Given the description of an element on the screen output the (x, y) to click on. 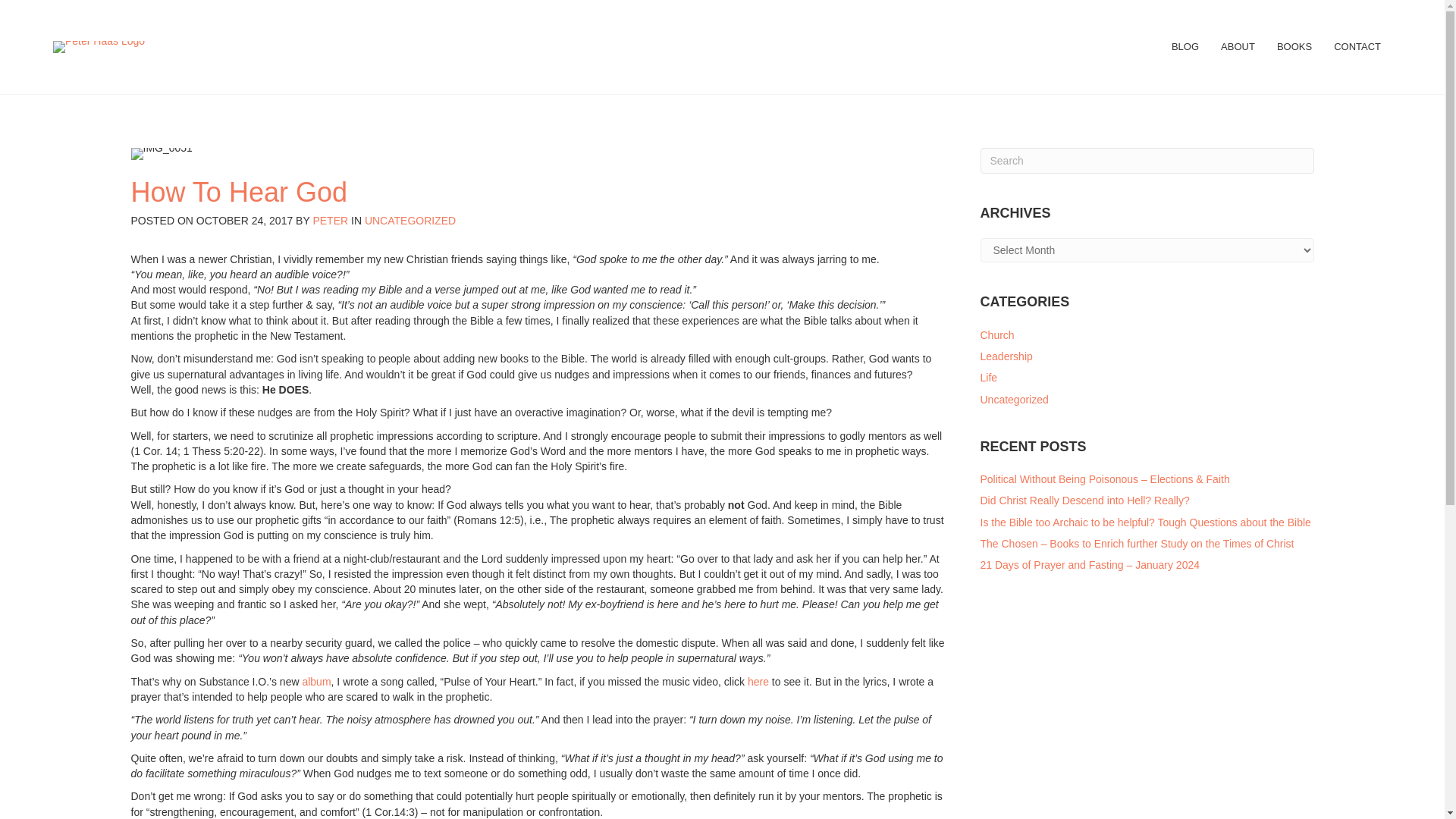
PeterHaas Logo (98, 46)
PETER (330, 220)
Church (996, 335)
here (758, 681)
Type and press Enter to search. (1146, 160)
BLOG (1184, 46)
books (1294, 46)
BOOKS (1294, 46)
ABOUT (1237, 46)
